Given the description of an element on the screen output the (x, y) to click on. 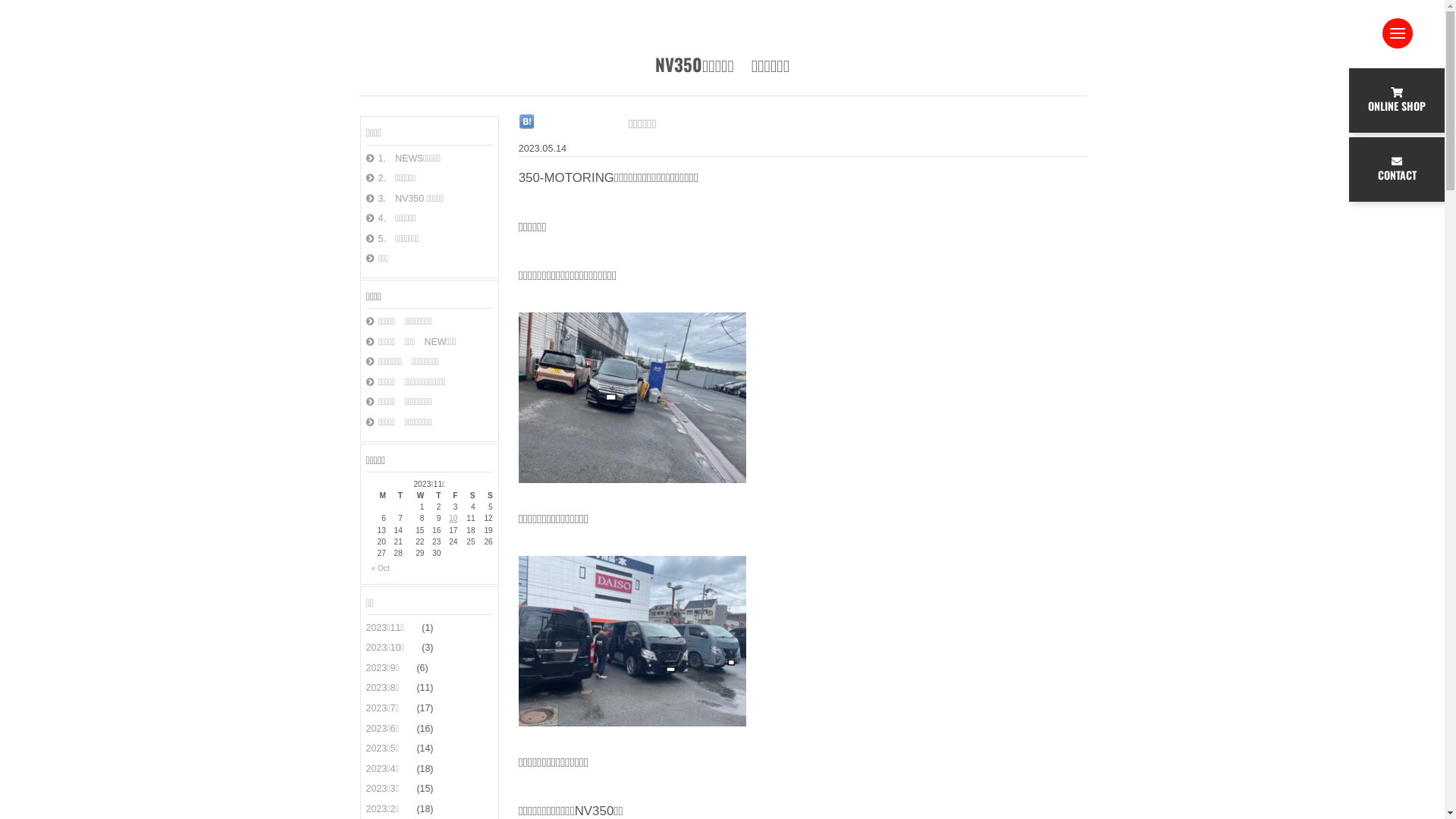
CONTACT Element type: text (1396, 169)
ONLINE SHOP Element type: text (1396, 100)
toggle navigation Element type: text (1397, 33)
10 Element type: text (448, 518)
